Given the description of an element on the screen output the (x, y) to click on. 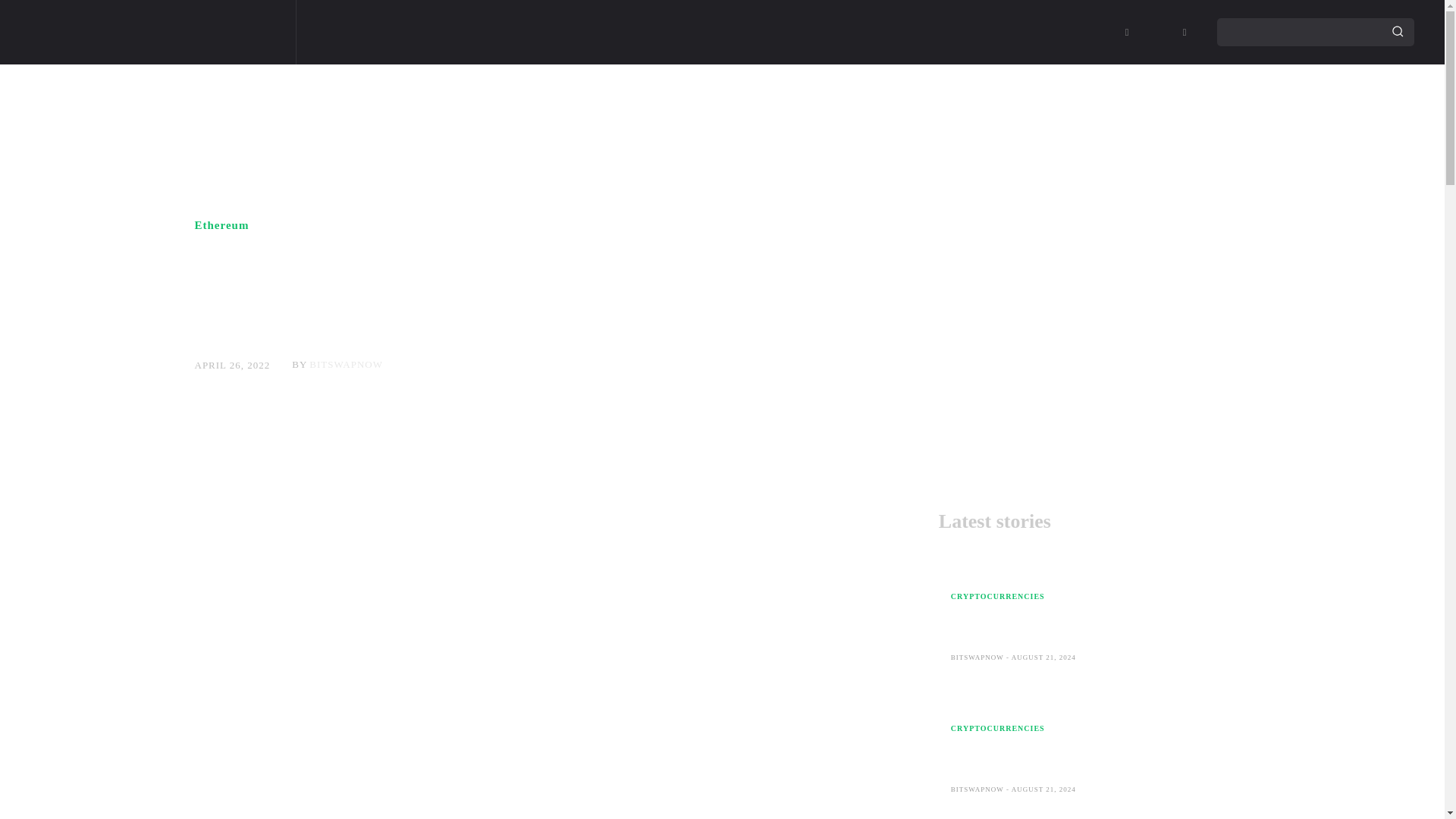
TikTok (1155, 32)
Instagram (1126, 32)
BitSwapNow (143, 32)
